Given the description of an element on the screen output the (x, y) to click on. 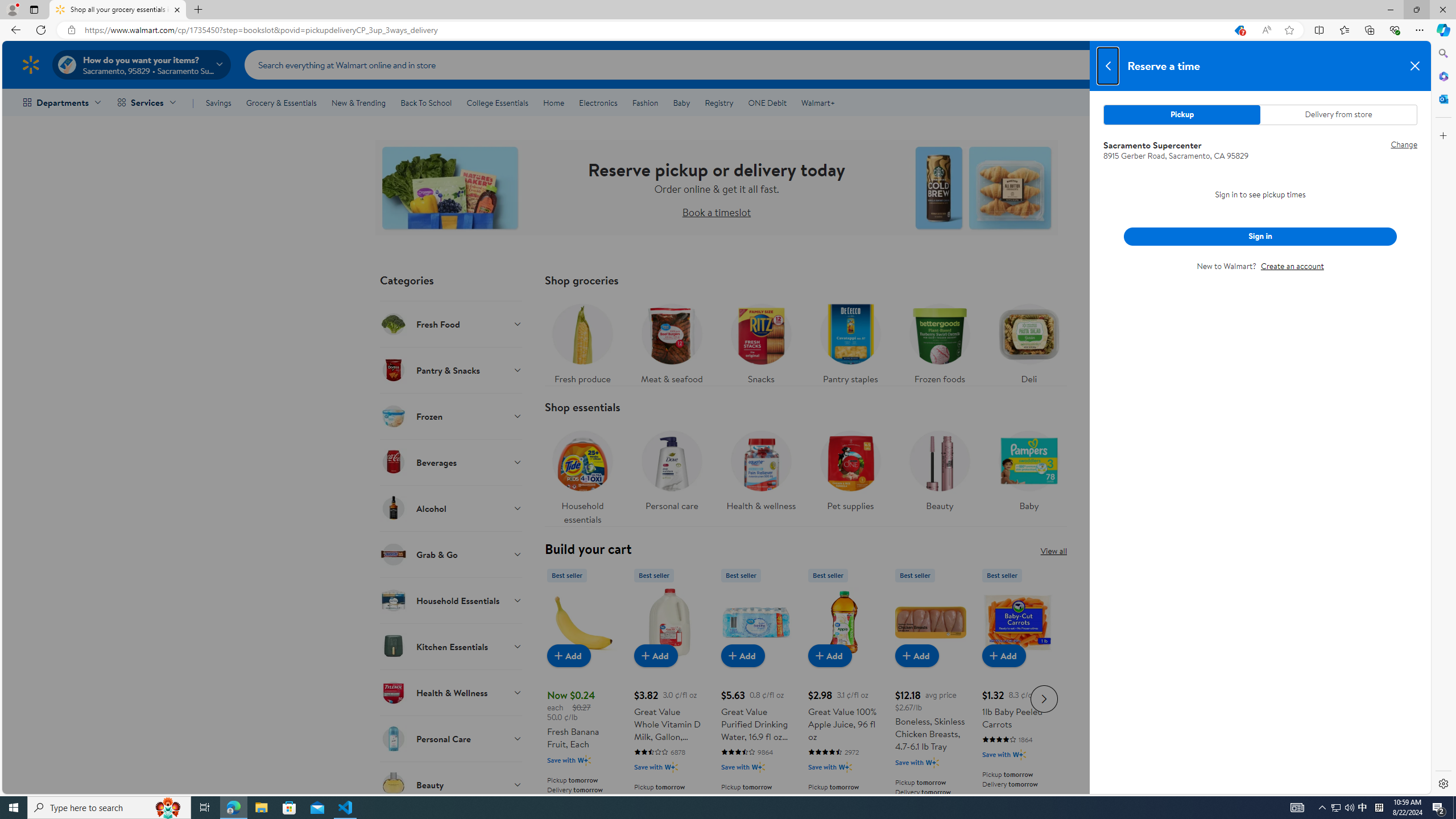
ONE Debit (767, 102)
Grocery & Essentials (280, 102)
Beverages (451, 461)
Walmart+ (817, 102)
New & Trending (358, 102)
Beauty (938, 467)
Health & wellness (761, 473)
Grocery & Essentials (280, 102)
Savings (217, 102)
Add to cart - Great Value 100% Apple Juice, 96 fl oz (829, 655)
